Given the description of an element on the screen output the (x, y) to click on. 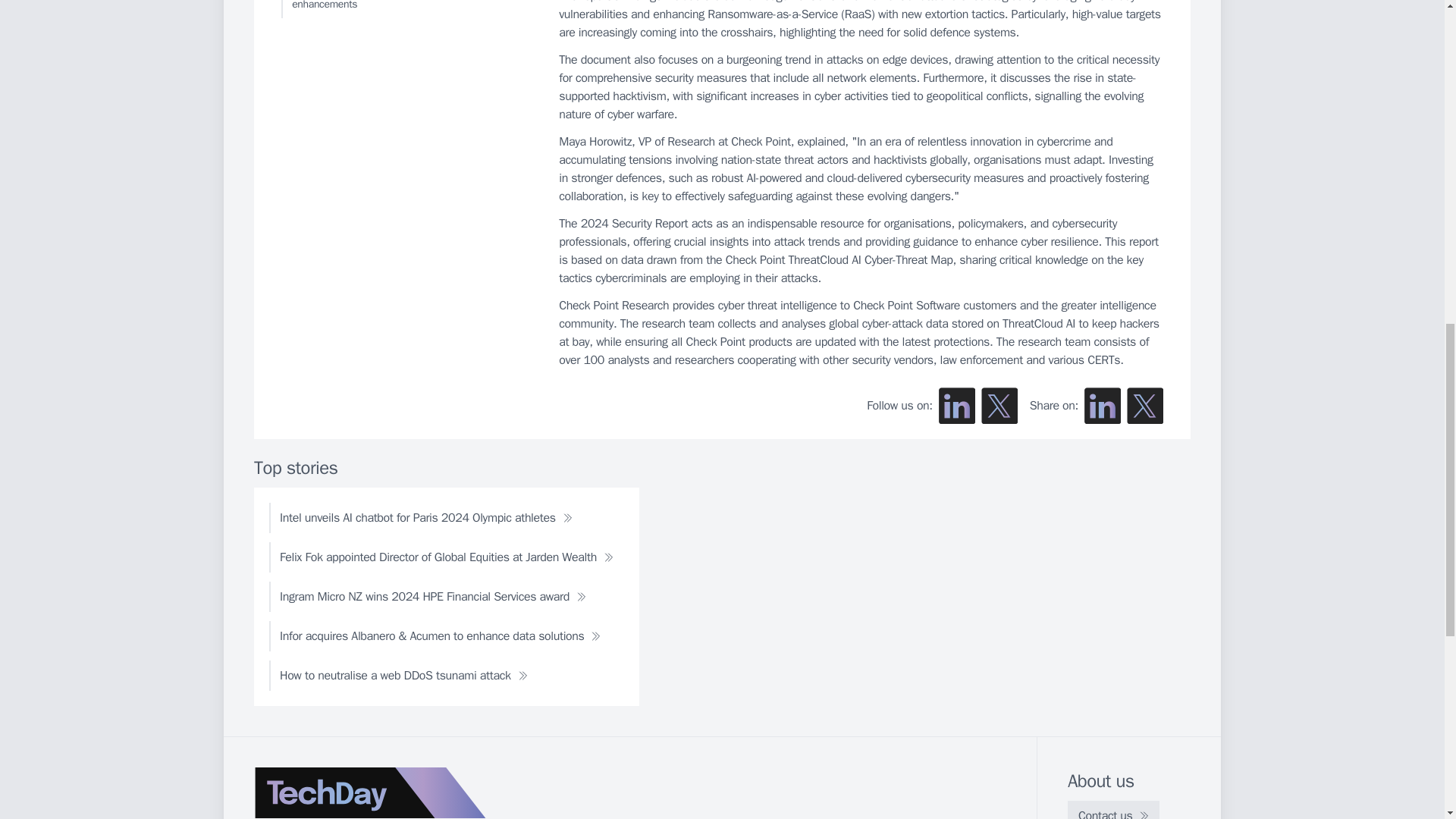
How to neutralise a web DDoS tsunami attack (403, 675)
Ingram Micro NZ wins 2024 HPE Financial Services award (432, 596)
Intel unveils AI chatbot for Paris 2024 Olympic athletes (426, 517)
